Given the description of an element on the screen output the (x, y) to click on. 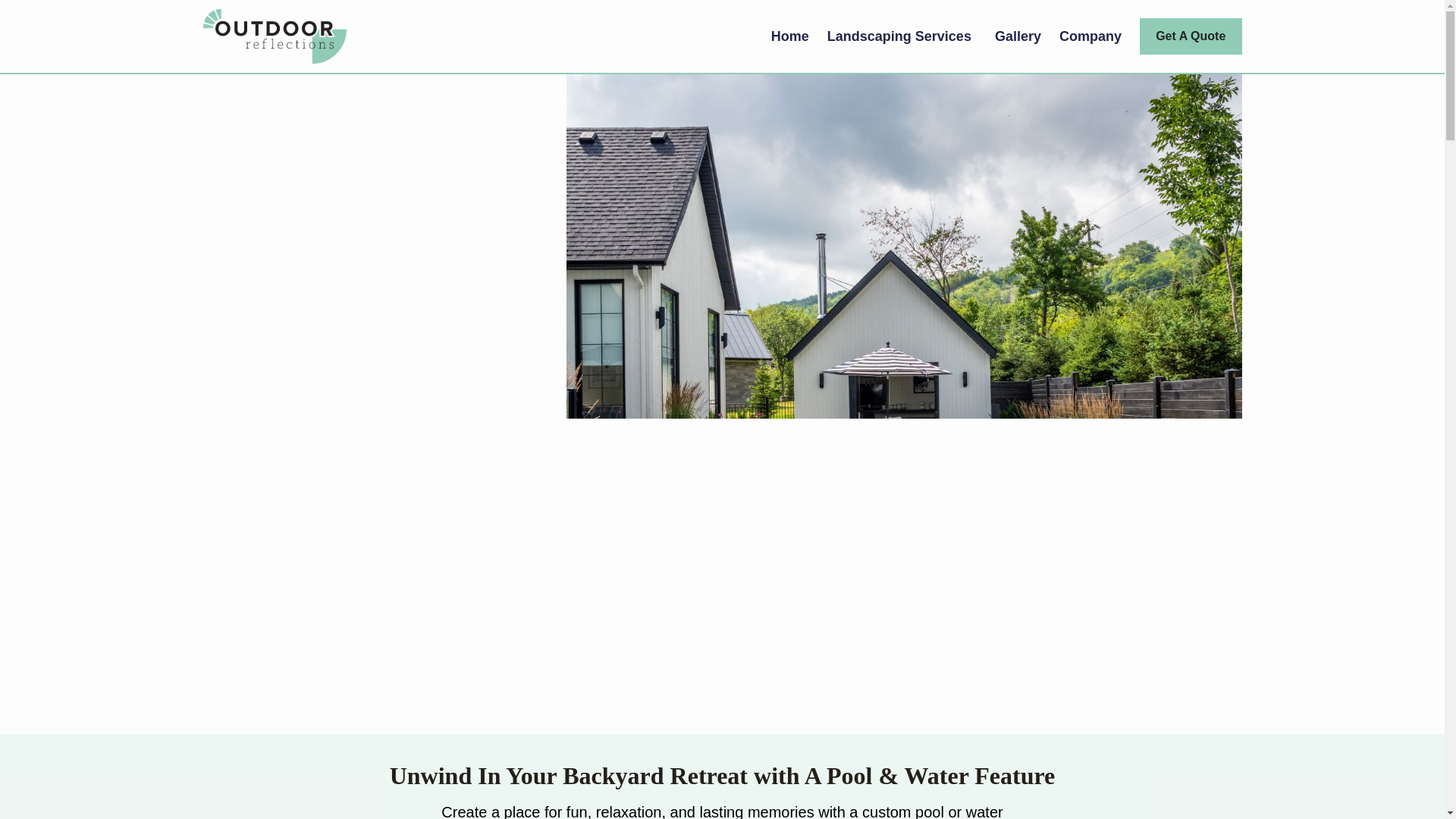
Gallery (1018, 36)
Landscaping Services (901, 36)
Get A Quote (1190, 36)
Home (789, 36)
Company (1093, 36)
